Given the description of an element on the screen output the (x, y) to click on. 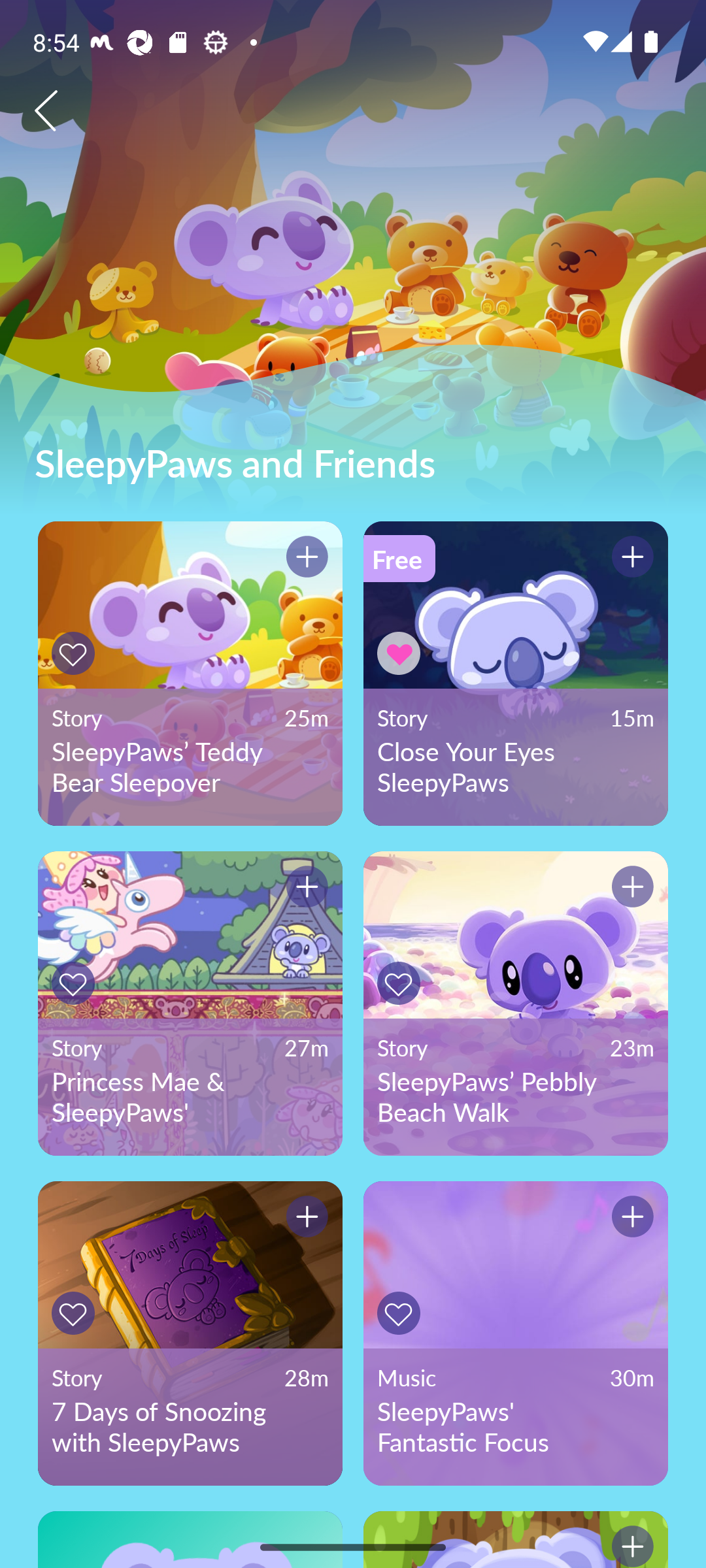
Button (304, 558)
Button (629, 558)
Button (76, 652)
Button (401, 652)
Button (304, 889)
Button (629, 889)
Button (76, 982)
Button (401, 982)
Button (304, 1218)
Button (629, 1218)
Button (76, 1312)
Button (401, 1312)
Button (629, 1539)
